Given the description of an element on the screen output the (x, y) to click on. 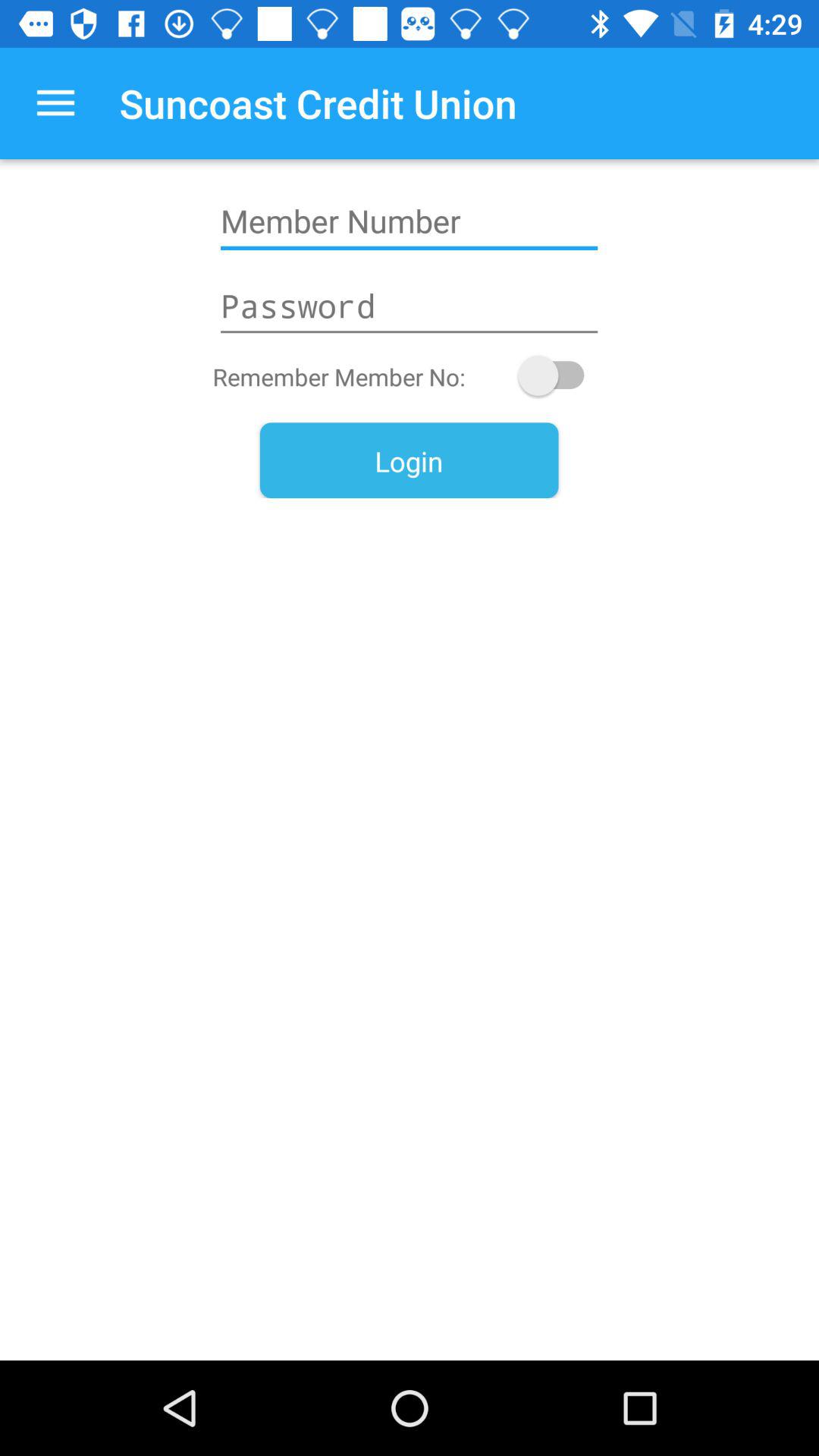
select icon above the login (558, 375)
